Given the description of an element on the screen output the (x, y) to click on. 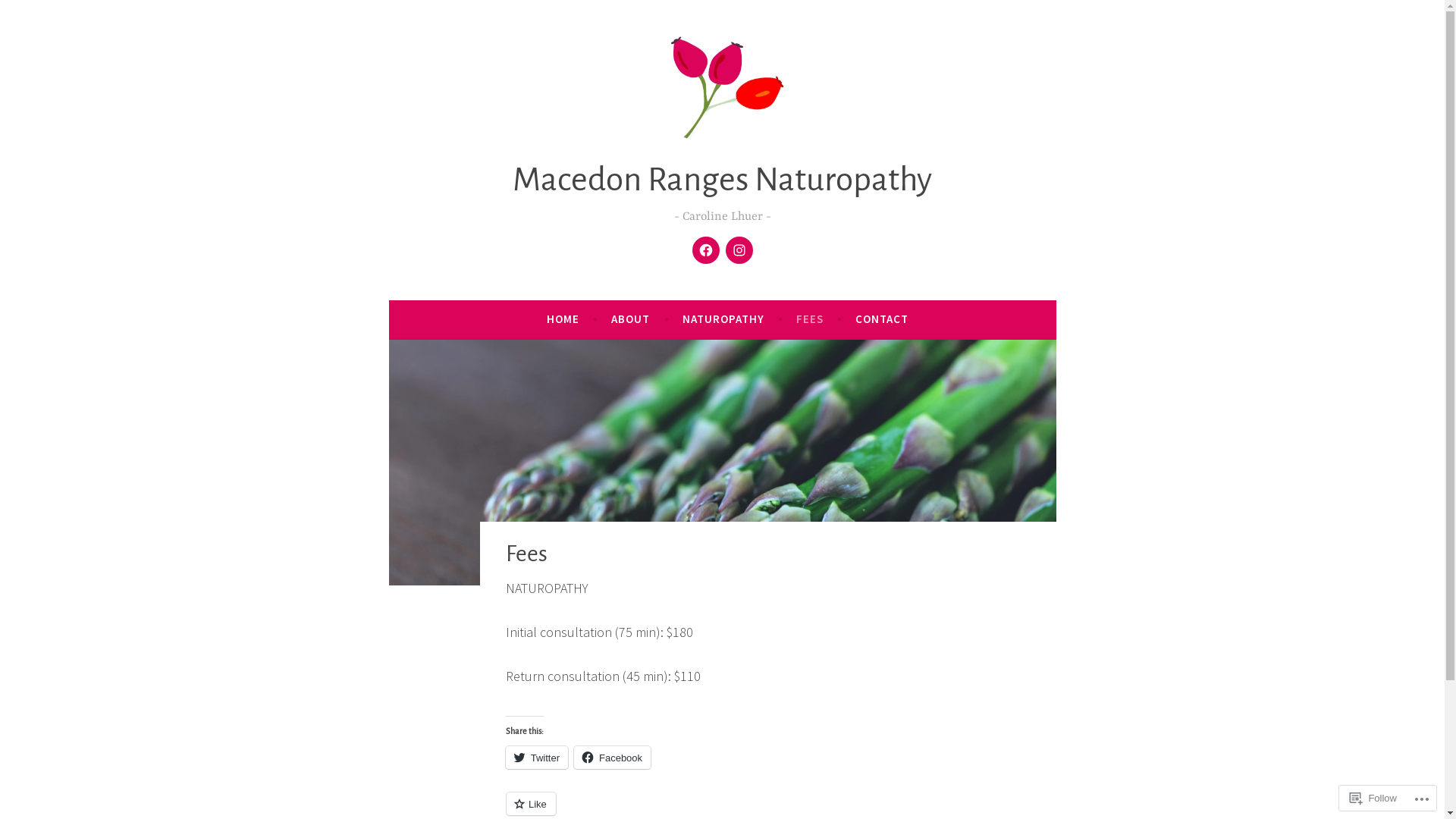
CONTACT Element type: text (881, 318)
Twitter Element type: text (536, 757)
Facebook Element type: text (612, 757)
FEES Element type: text (809, 318)
HOME Element type: text (562, 318)
NATUROPATHY Element type: text (723, 318)
Follow Element type: text (1372, 797)
ABOUT Element type: text (630, 318)
Macedon Ranges Naturopathy Element type: text (721, 179)
